Given the description of an element on the screen output the (x, y) to click on. 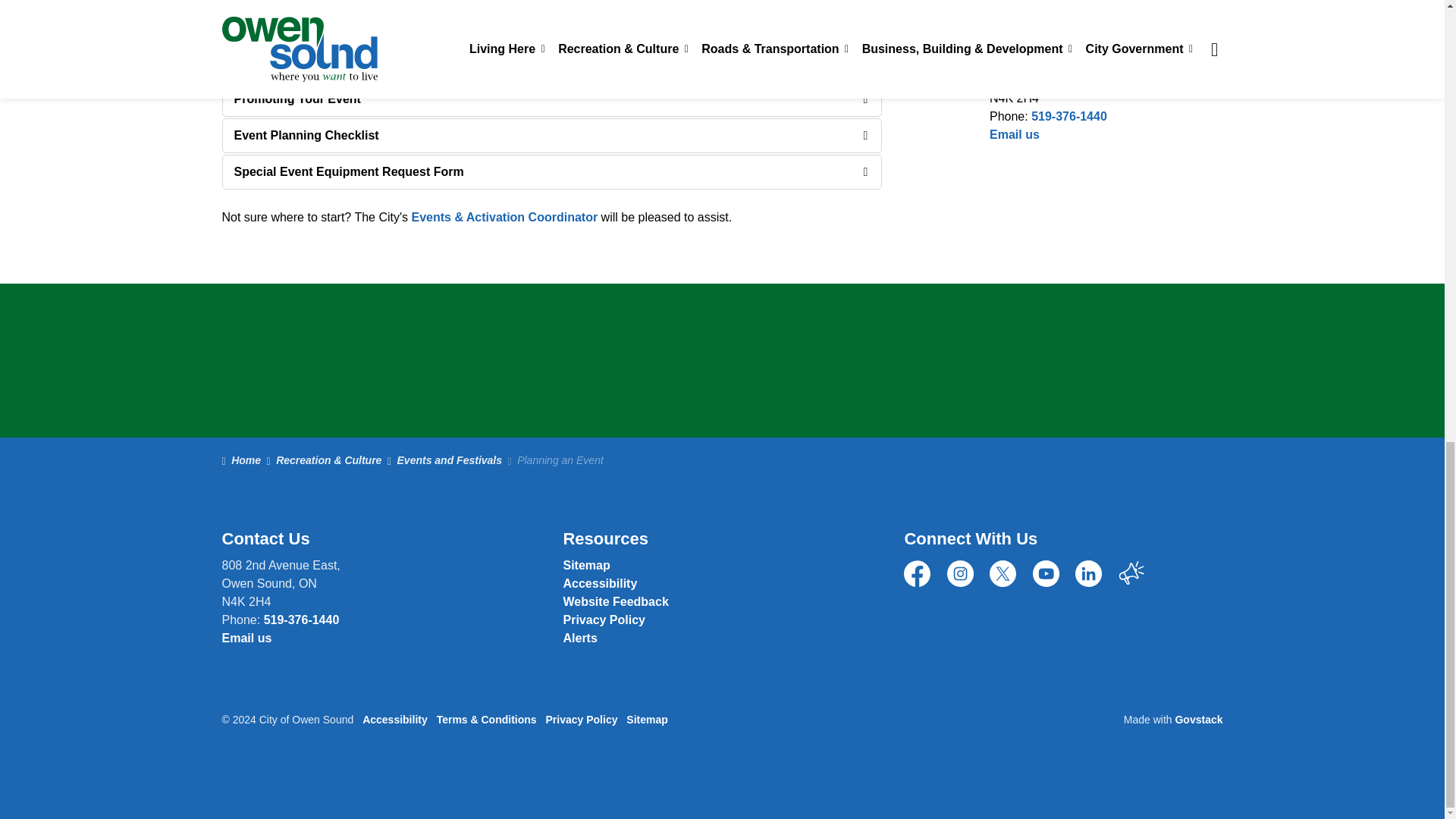
Sitemap (586, 564)
Accessibility (599, 583)
Privacy Policy (603, 619)
Send an email to Events (503, 216)
News and Public Notices (579, 637)
Contacts Directory (1014, 133)
Contacts Directory (245, 637)
Contacts Directory (615, 601)
